Given the description of an element on the screen output the (x, y) to click on. 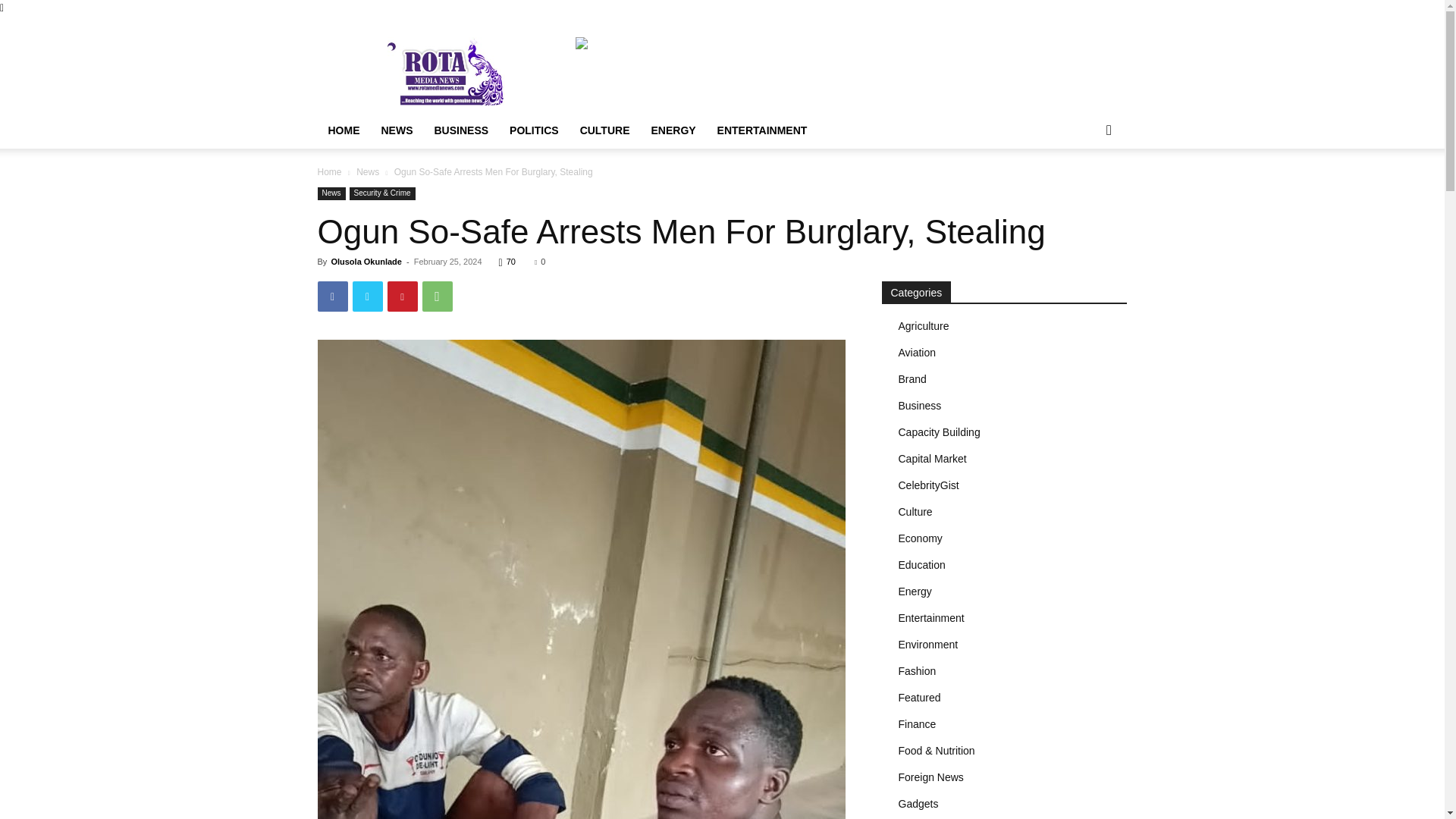
BUSINESS (461, 130)
NEWS (396, 130)
Search (1085, 191)
Twitter (366, 296)
Olusola Okunlade (365, 261)
View all posts in News (367, 172)
Home (328, 172)
ENERGY (673, 130)
ENTERTAINMENT (762, 130)
0 (539, 261)
Facebook (332, 296)
WhatsApp (436, 296)
HOME (343, 130)
Pinterest (401, 296)
News (331, 193)
